Given the description of an element on the screen output the (x, y) to click on. 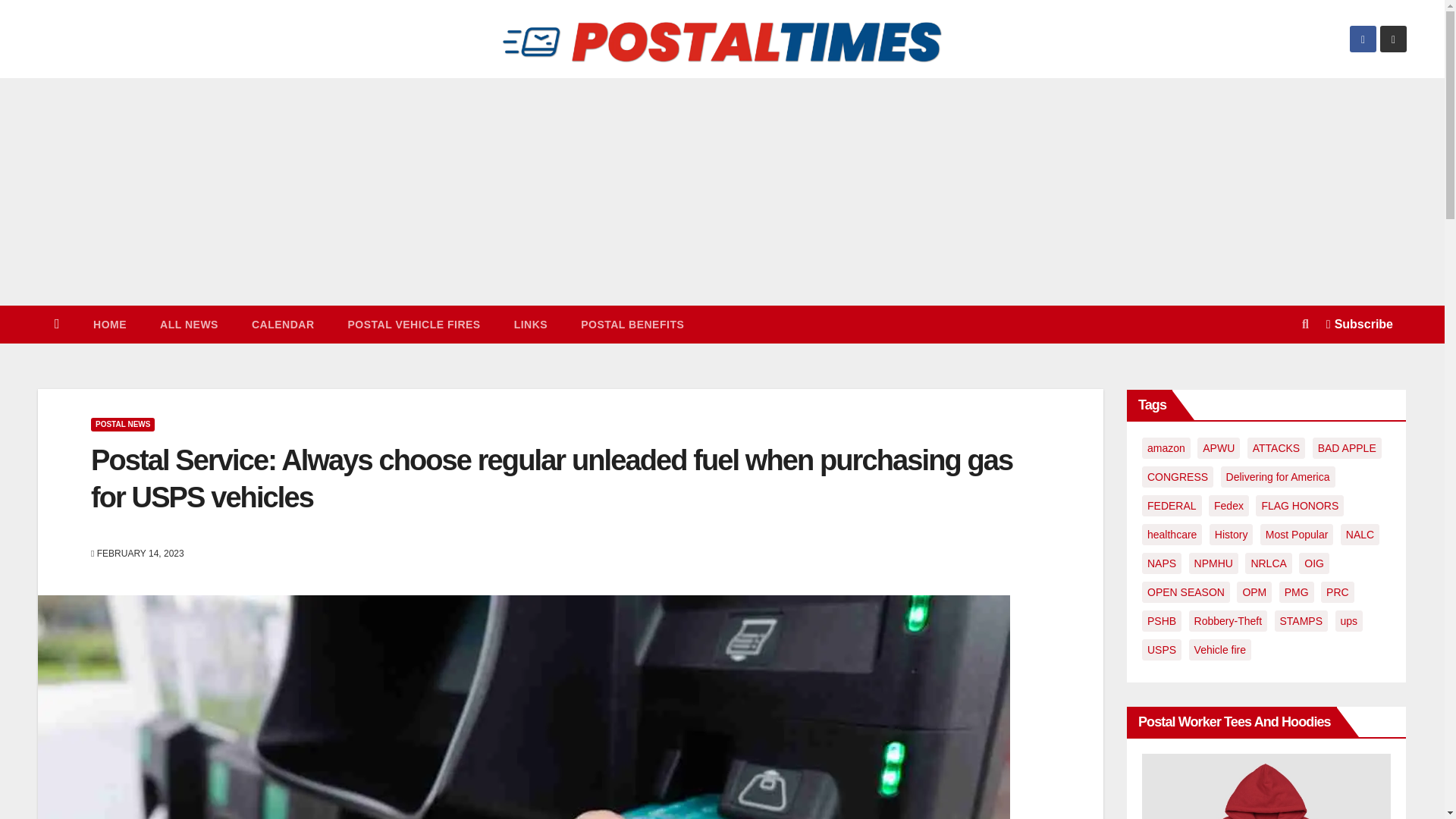
HOME (109, 324)
LINKS (530, 324)
POSTAL NEWS (122, 424)
CALENDAR (282, 324)
POSTAL VEHICLE FIRES (413, 324)
Postal Benefits (632, 324)
Home (109, 324)
Home (57, 324)
POSTAL BENEFITS (632, 324)
